Given the description of an element on the screen output the (x, y) to click on. 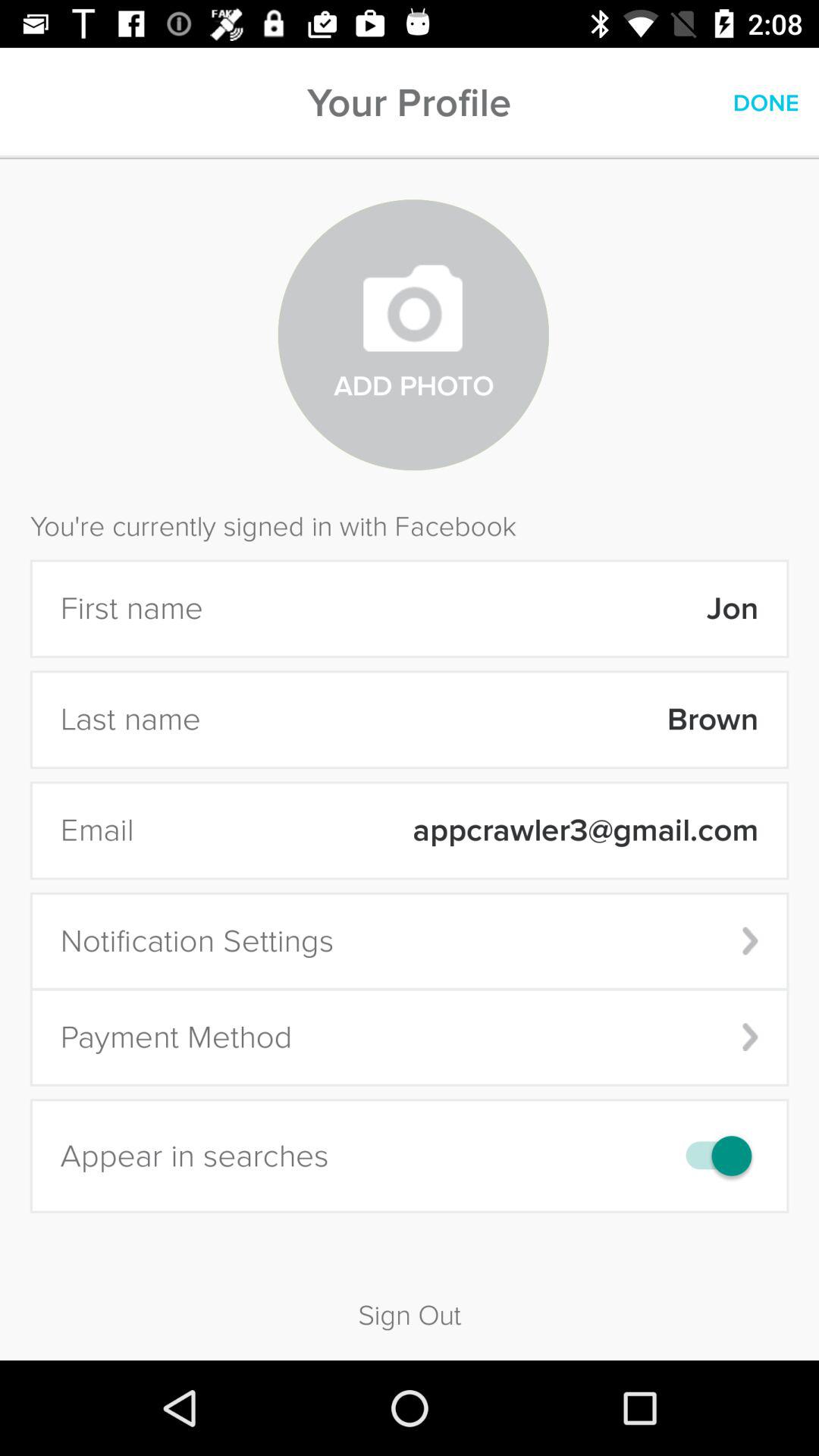
click icon above the notification settings (455, 830)
